Given the description of an element on the screen output the (x, y) to click on. 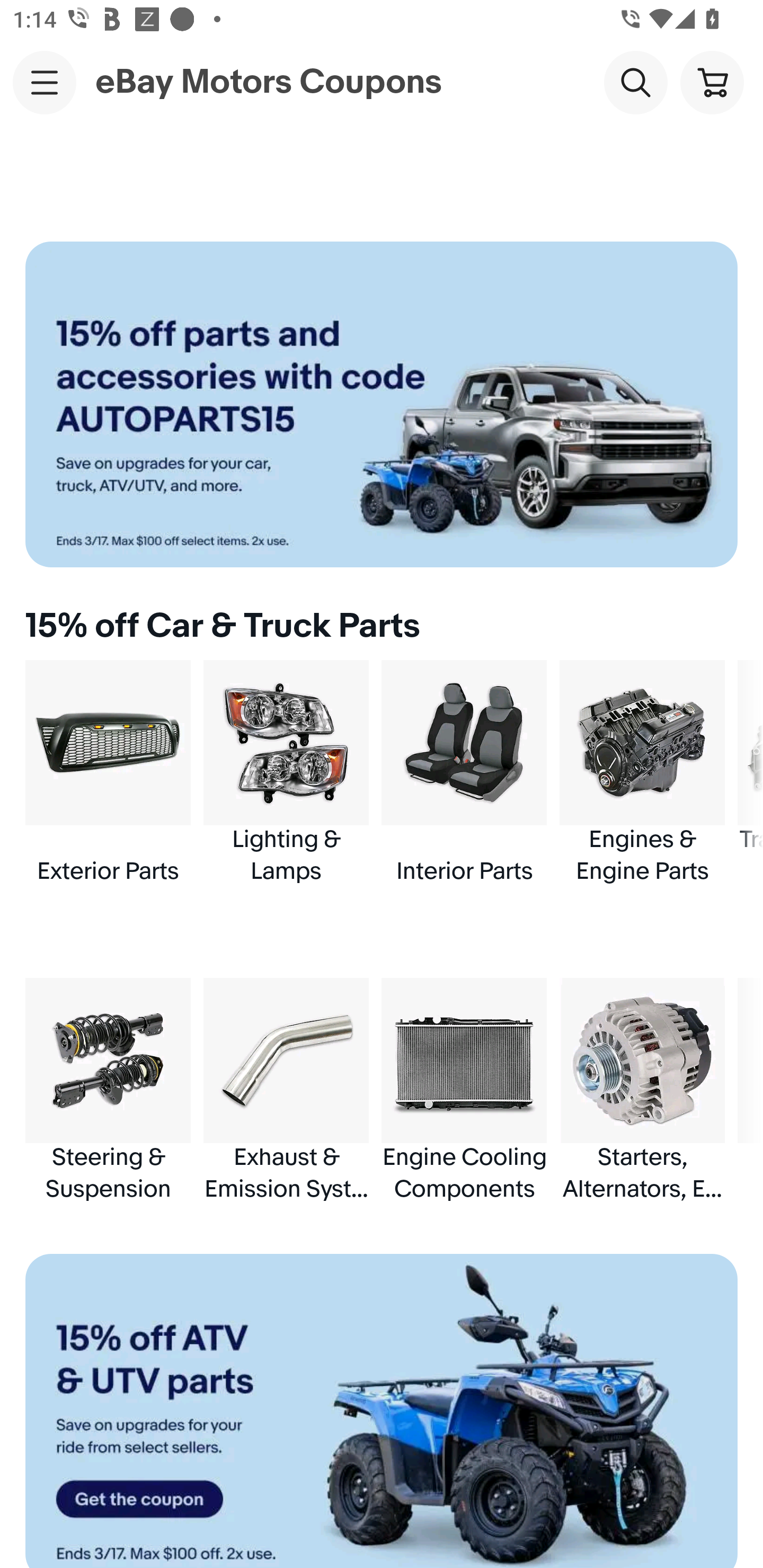
Main navigation, open (44, 82)
Search (635, 81)
Cart button shopping cart (711, 81)
15% off parts & accessories for your ride (381, 404)
Exterior Parts (107, 772)
Lighting & Lamps (285, 772)
Interior Parts (464, 772)
Engines & Engine Parts (641, 772)
Steering & Suspension (107, 1090)
Exhaust & Emission Systems (285, 1090)
Engine Cooling Components (464, 1090)
Starters, Alternators, ECUs & Wiring (641, 1090)
15% off atv and utv parts (381, 1411)
